Given the description of an element on the screen output the (x, y) to click on. 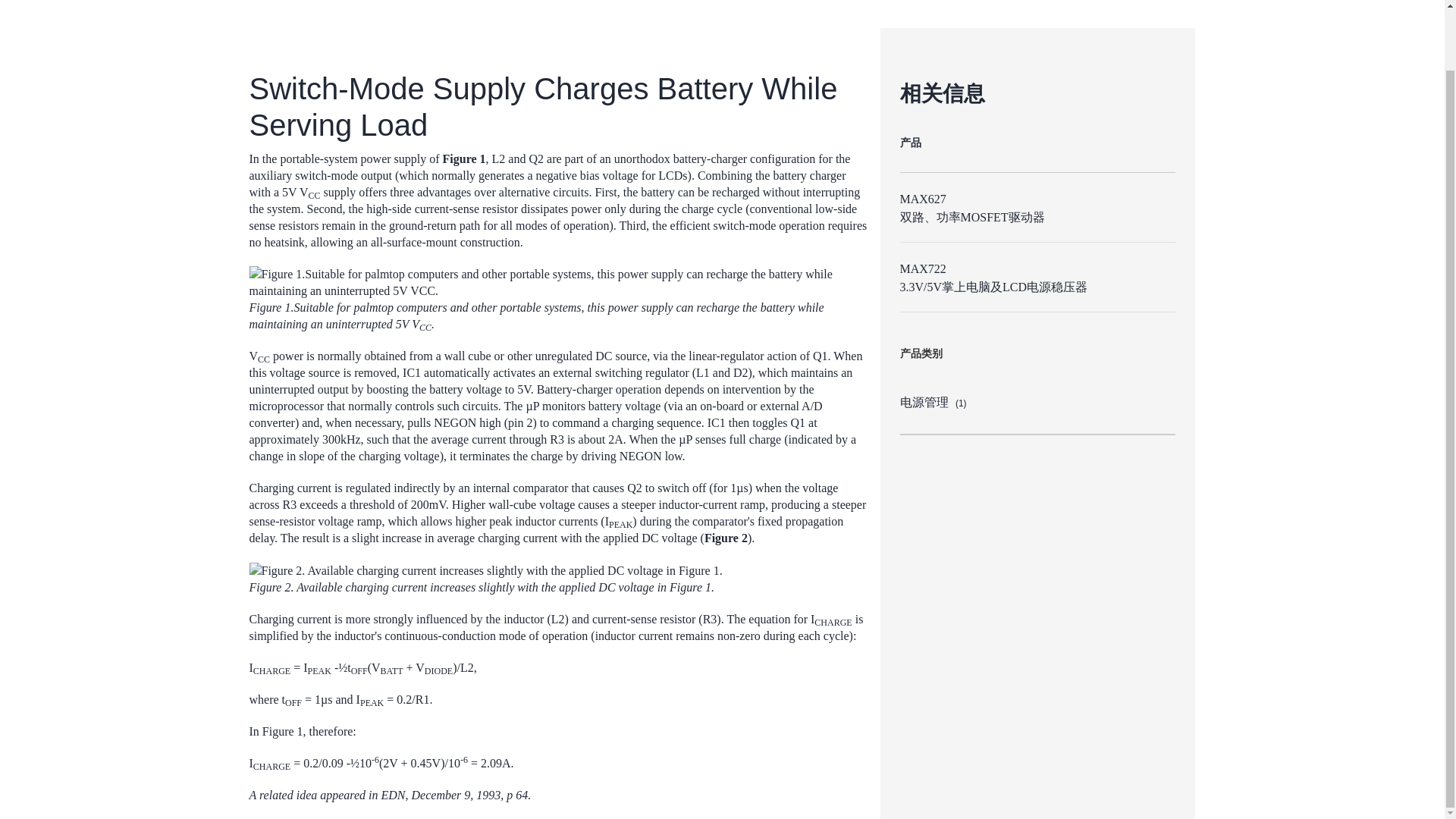
MAX722 (921, 268)
MAX627 (921, 198)
